Given the description of an element on the screen output the (x, y) to click on. 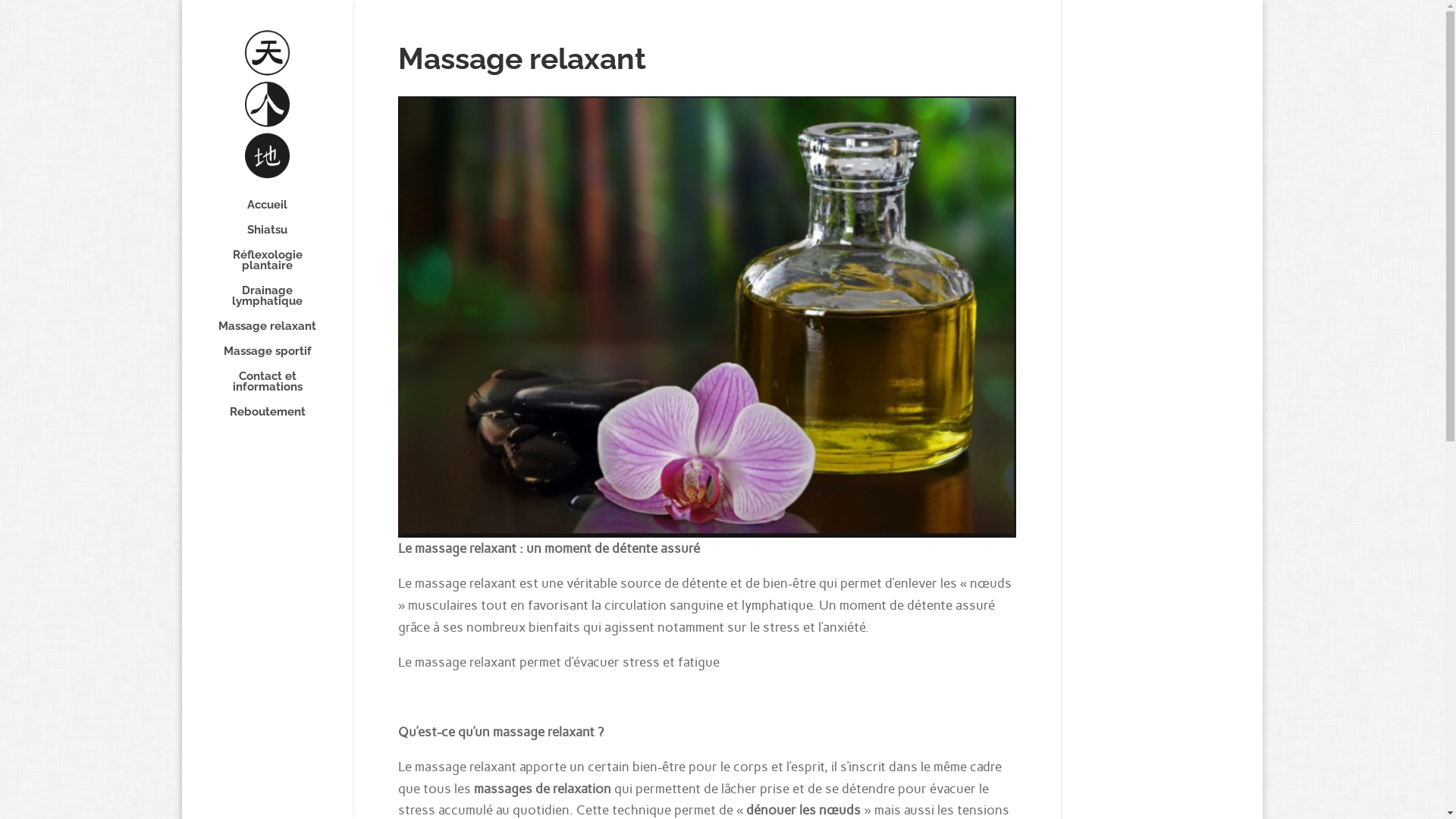
Accueil Element type: text (282, 211)
Shiatsu Element type: text (282, 236)
Reboutement Element type: text (282, 418)
Massage relaxant Element type: text (282, 332)
Contact et informations Element type: text (282, 388)
Massage sportif Element type: text (282, 357)
Drainage lymphatique Element type: text (282, 302)
